Given the description of an element on the screen output the (x, y) to click on. 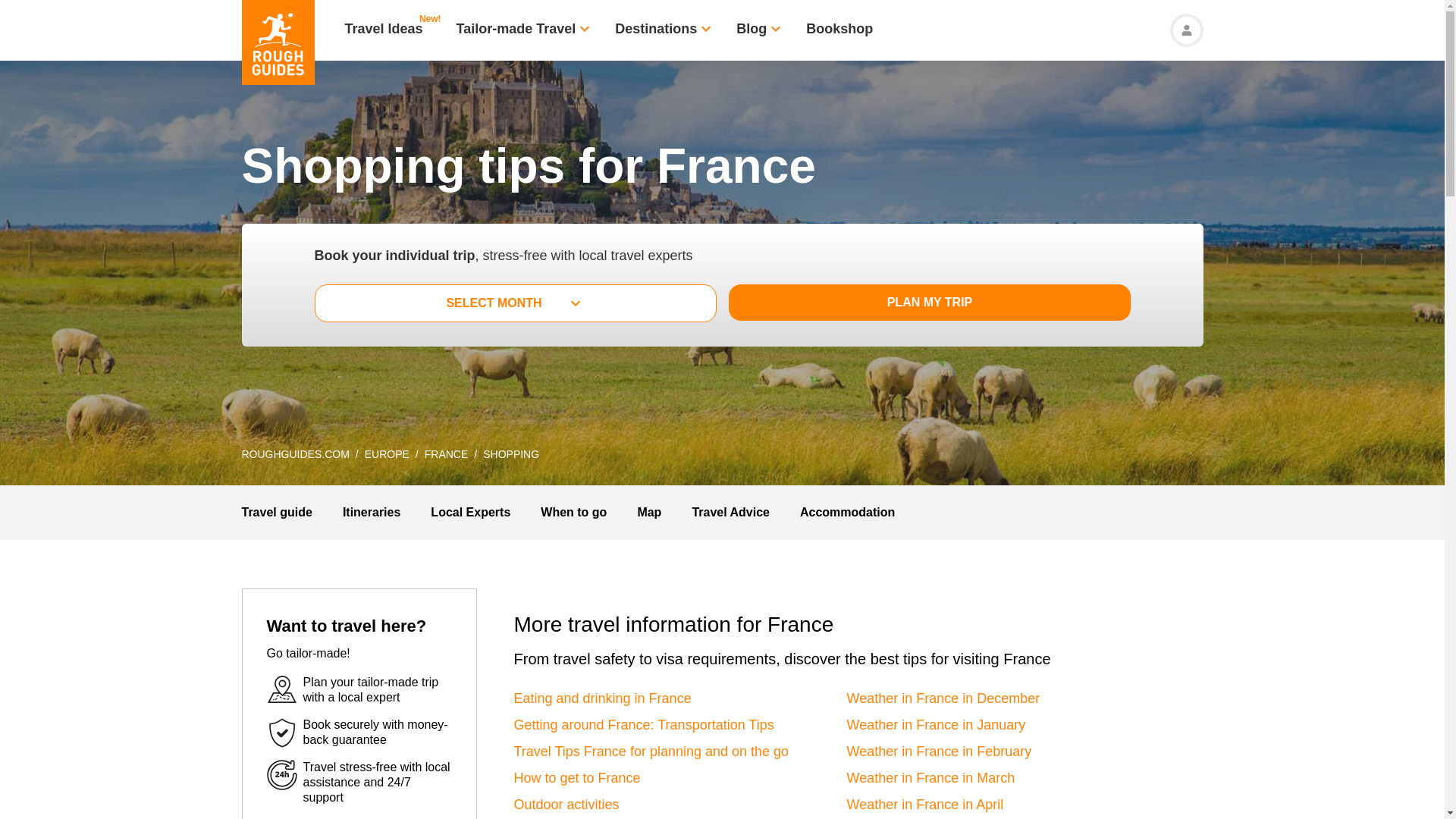
Travel guide (276, 512)
How to get to France (576, 777)
Travel Ideas (382, 29)
Getting around France: Transportation Tips (643, 724)
Travel Advice (730, 512)
Accommodation (847, 512)
Weather in France in January (935, 724)
Tailor-made Travel (516, 29)
Weather in France in February (937, 751)
Travel Tips France for planning and on the go (651, 751)
